Given the description of an element on the screen output the (x, y) to click on. 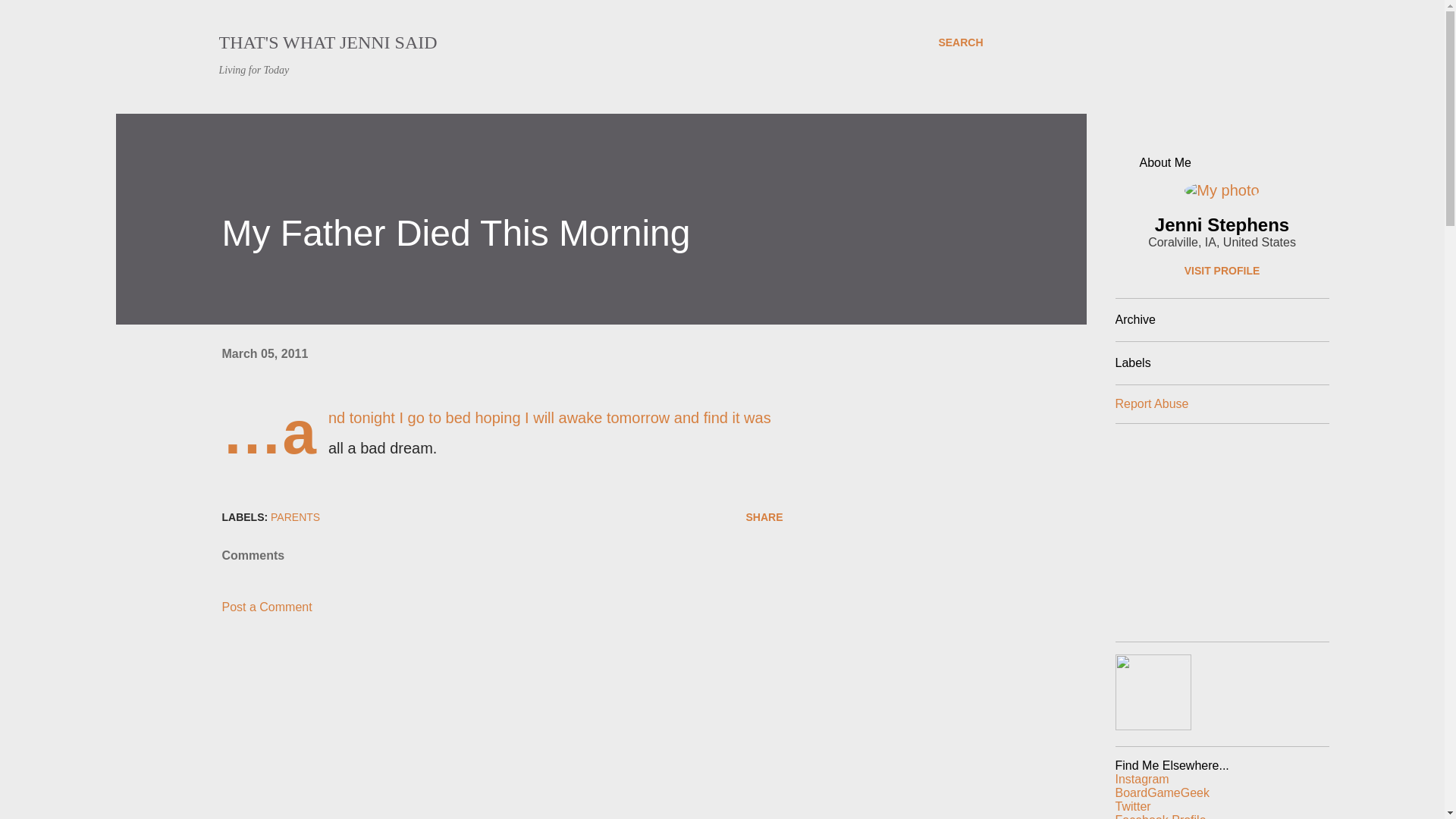
Post a Comment (266, 606)
SHARE (764, 517)
SEARCH (959, 42)
Email Post (343, 517)
permanent link (264, 353)
THAT'S WHAT JENNI SAID (327, 42)
PARENTS (295, 516)
March 05, 2011 (264, 353)
